Given the description of an element on the screen output the (x, y) to click on. 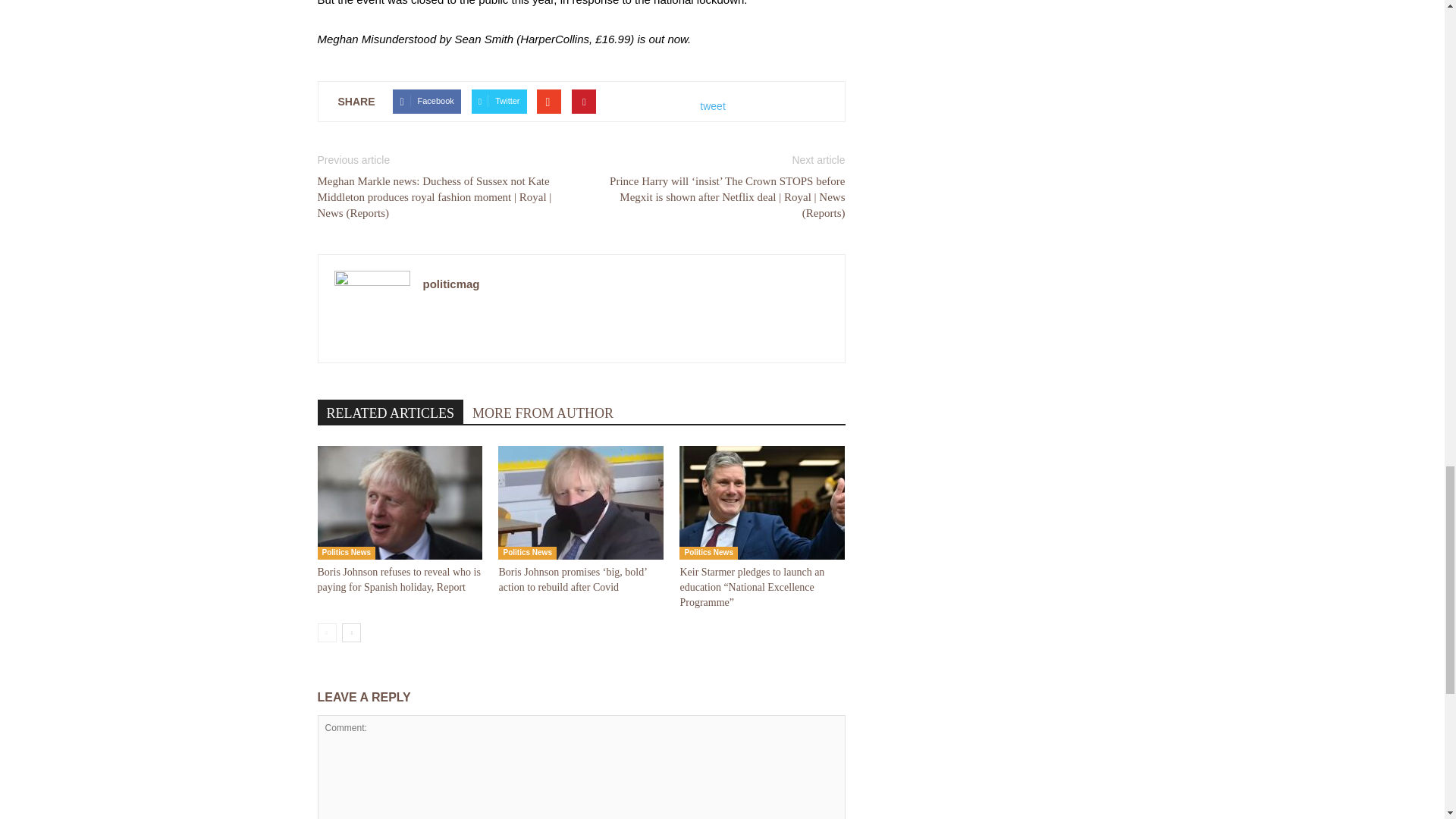
tweet (712, 106)
RELATED ARTICLES (390, 411)
Facebook (426, 101)
politicmag (451, 283)
Twitter (499, 101)
